Given the description of an element on the screen output the (x, y) to click on. 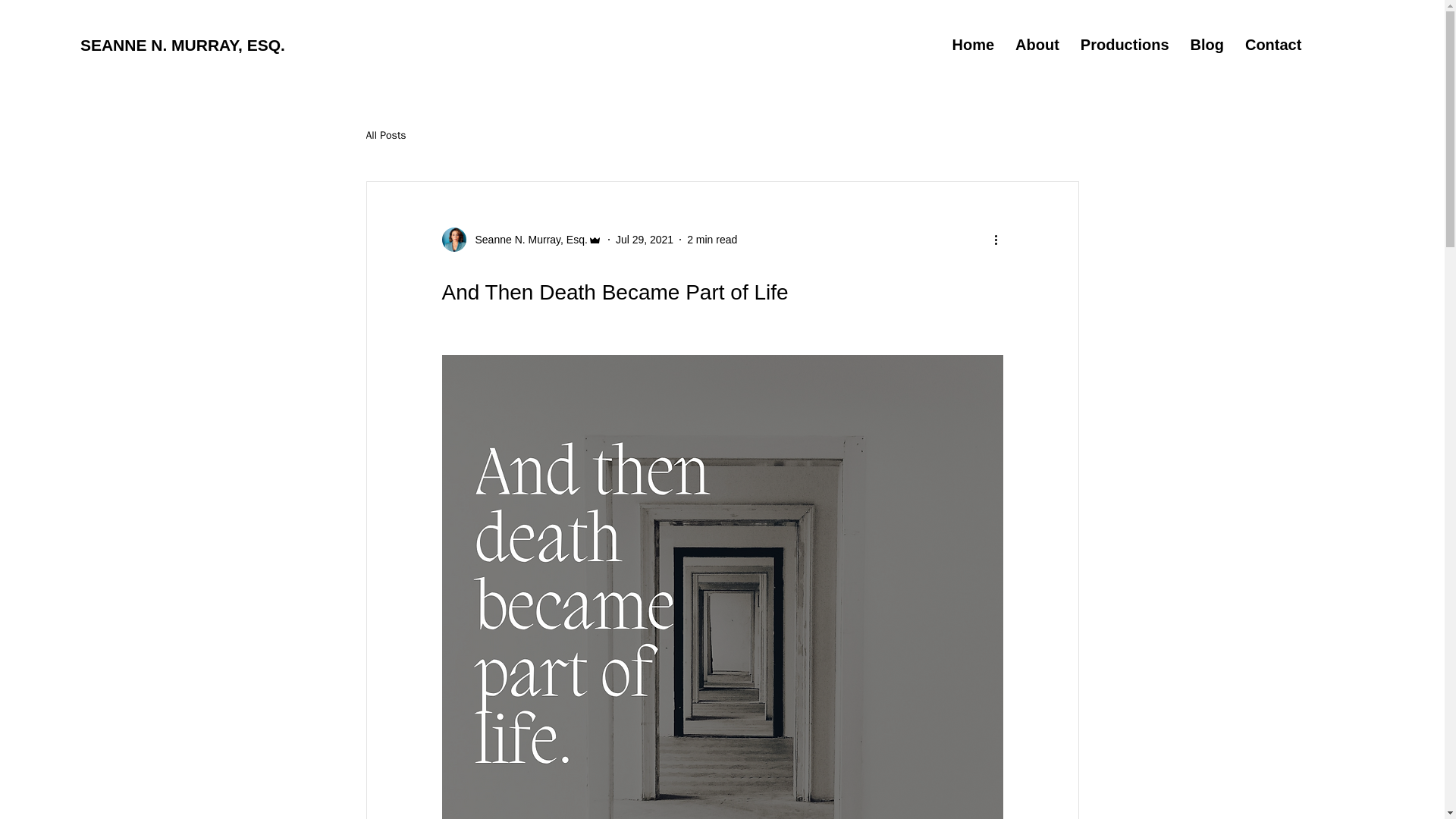
Jul 29, 2021 (643, 239)
Seanne N. Murray, Esq. (671, 44)
Blog (525, 239)
2 min read (1206, 44)
Home (711, 239)
Productions (973, 44)
All Posts (1124, 44)
SEANNE N. MURRAY, ESQ. (385, 135)
About (182, 45)
